Given the description of an element on the screen output the (x, y) to click on. 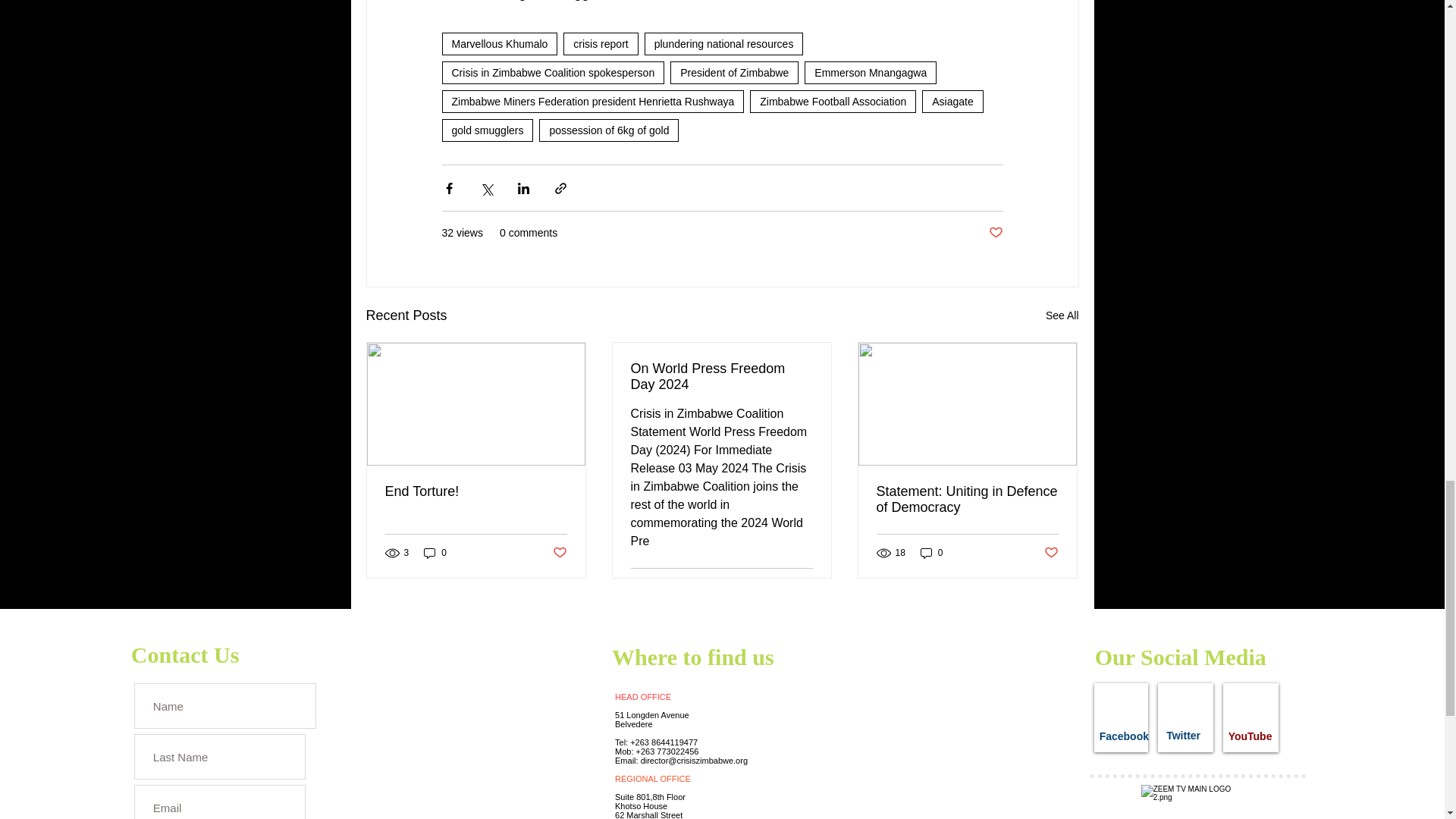
Marvellous Khumalo (499, 43)
Post not marked as liked (995, 232)
Asiagate (951, 101)
President of Zimbabwe (733, 72)
Zimbabwe Football Association (832, 101)
Emmerson Mnangagwa (870, 72)
possession of 6kg of gold (608, 129)
gold smugglers (486, 129)
Crisis in Zimbabwe Coalition spokesperson (552, 72)
plundering national resources (724, 43)
Zimbabwe Miners Federation president Henrietta Rushwaya (592, 101)
crisis report (600, 43)
See All (1061, 315)
